Given the description of an element on the screen output the (x, y) to click on. 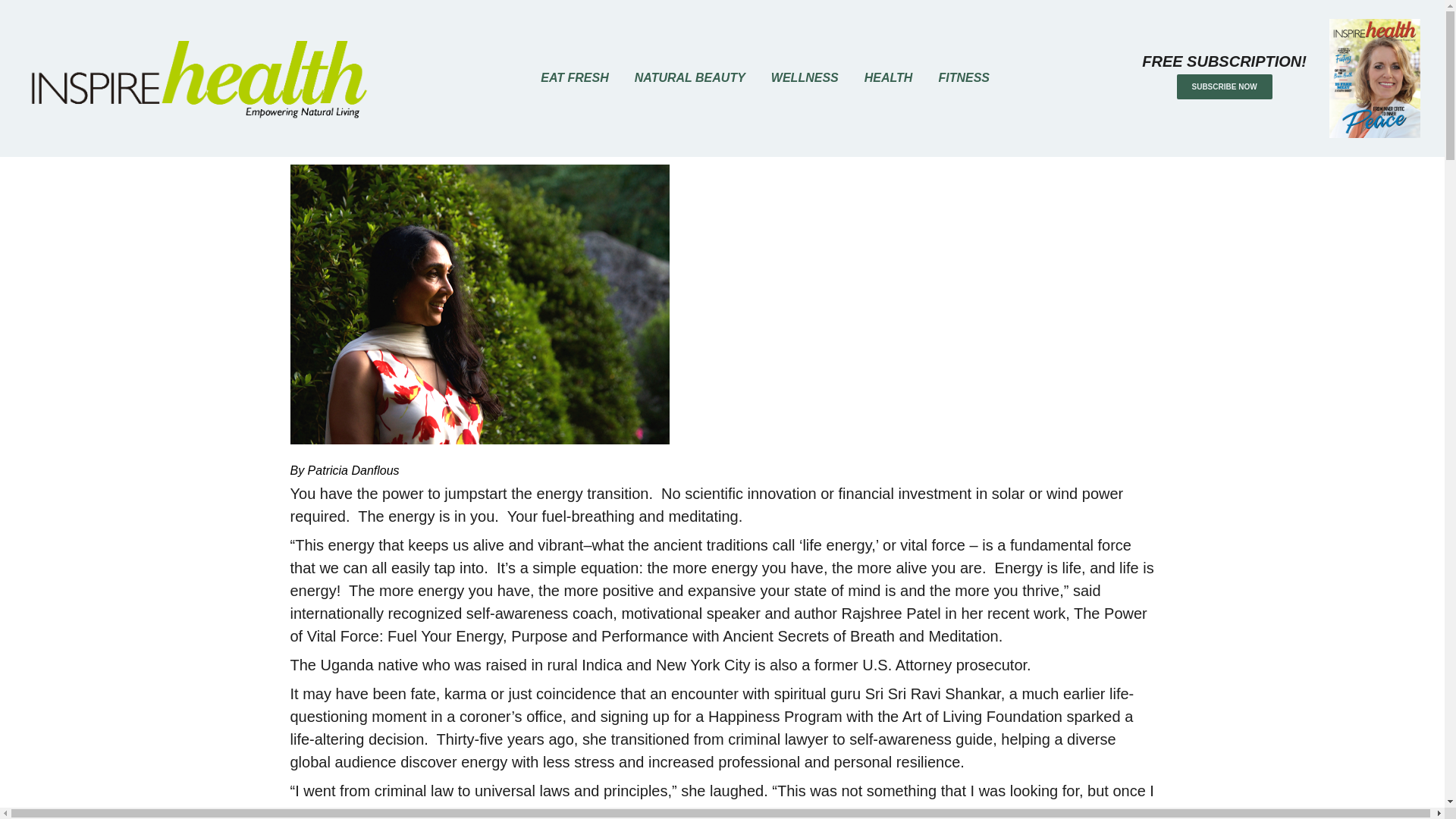
WELLNESS (804, 78)
EAT FRESH (574, 78)
FITNESS (963, 78)
SUBSCRIBE NOW (1224, 86)
NATURAL BEAUTY (689, 78)
HEALTH (888, 78)
